Given the description of an element on the screen output the (x, y) to click on. 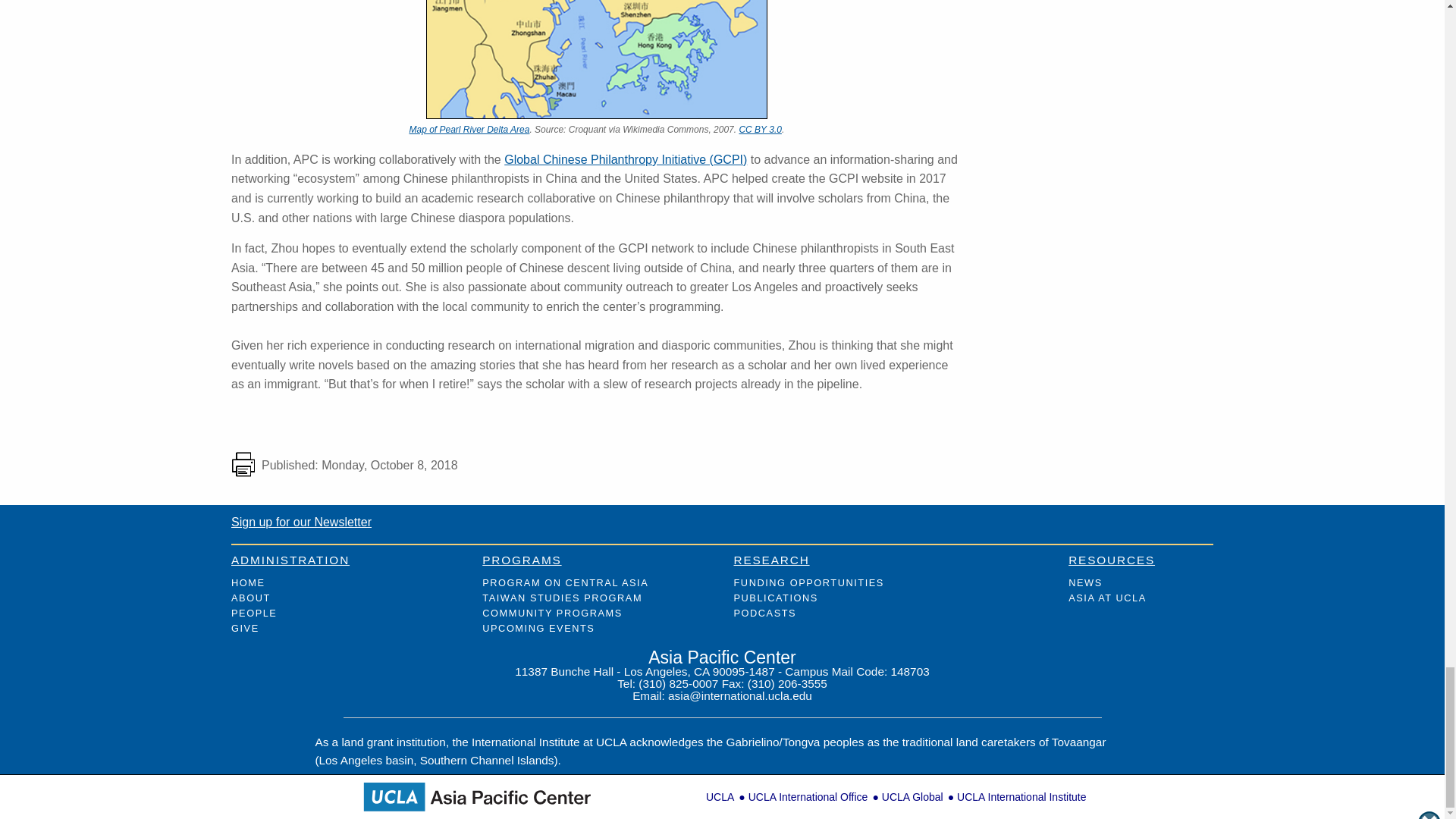
CC BY 3.0 (759, 129)
Map of Pearl River Delta Area (469, 128)
